Given the description of an element on the screen output the (x, y) to click on. 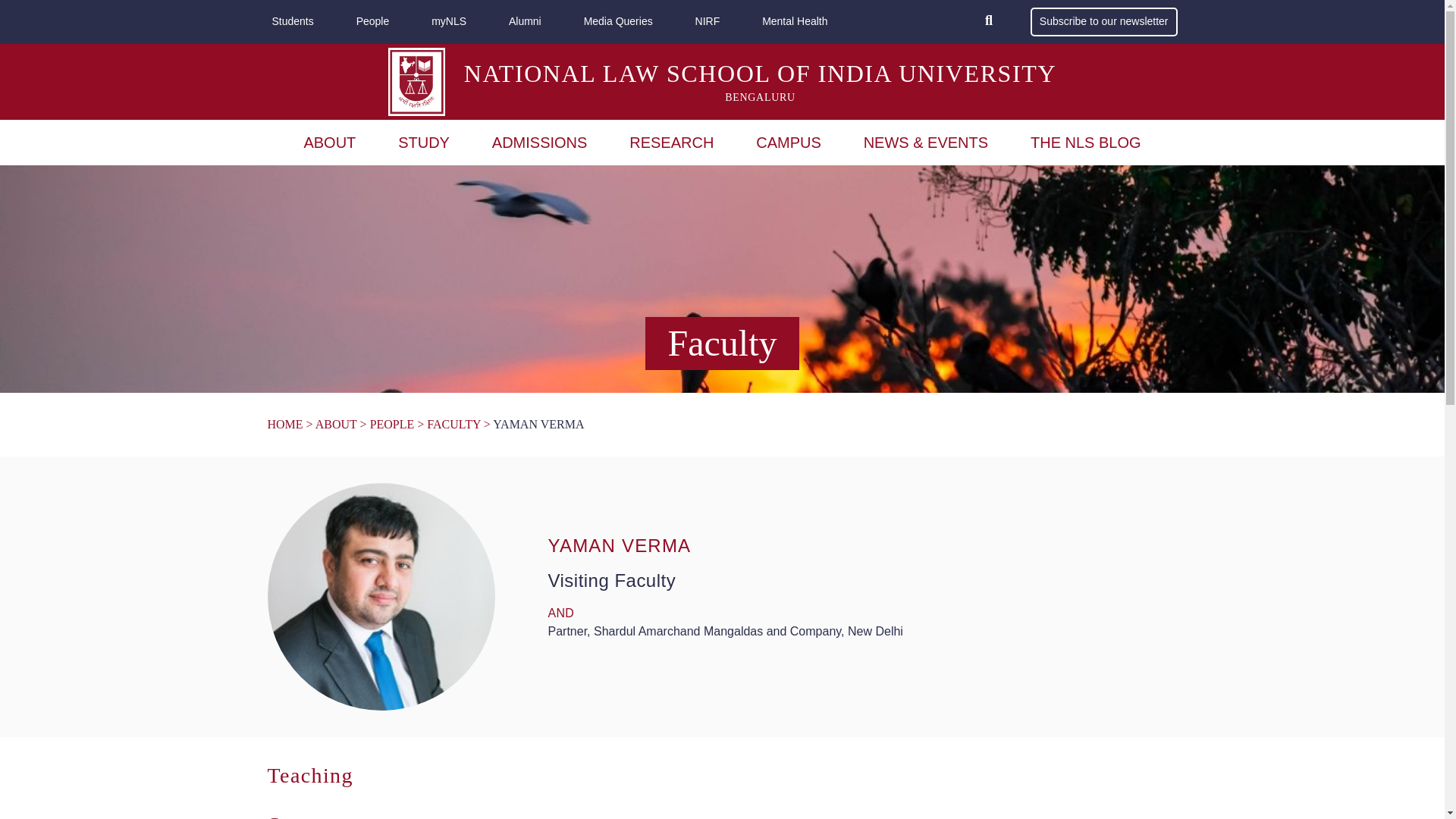
Alumni (524, 21)
Subscribe to our newsletter (1103, 21)
myNLS (448, 21)
Mental Health (794, 21)
NIRF (707, 21)
Students (291, 21)
People (373, 21)
Media Queries (618, 21)
